Given the description of an element on the screen output the (x, y) to click on. 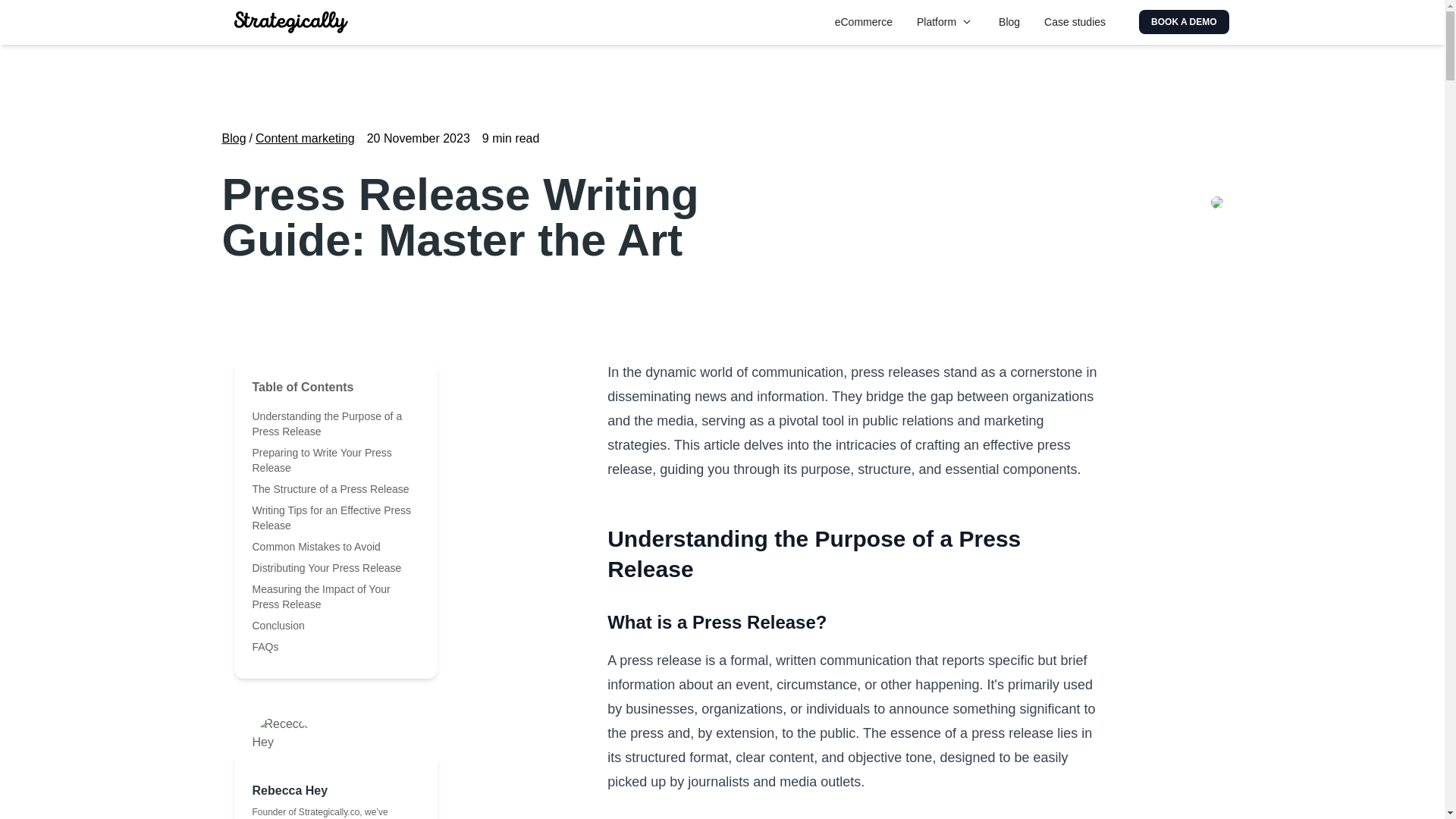
BOOK A DEMO (1183, 21)
Blog (1009, 22)
Blog (233, 137)
Content marketing (305, 137)
FAQs (264, 646)
Writing Tips for an Effective Press Release (330, 517)
Case studies (1075, 22)
Measuring the Impact of Your Press Release (320, 596)
Distributing Your Press Release (326, 567)
Common Mistakes to Avoid (315, 546)
